Given the description of an element on the screen output the (x, y) to click on. 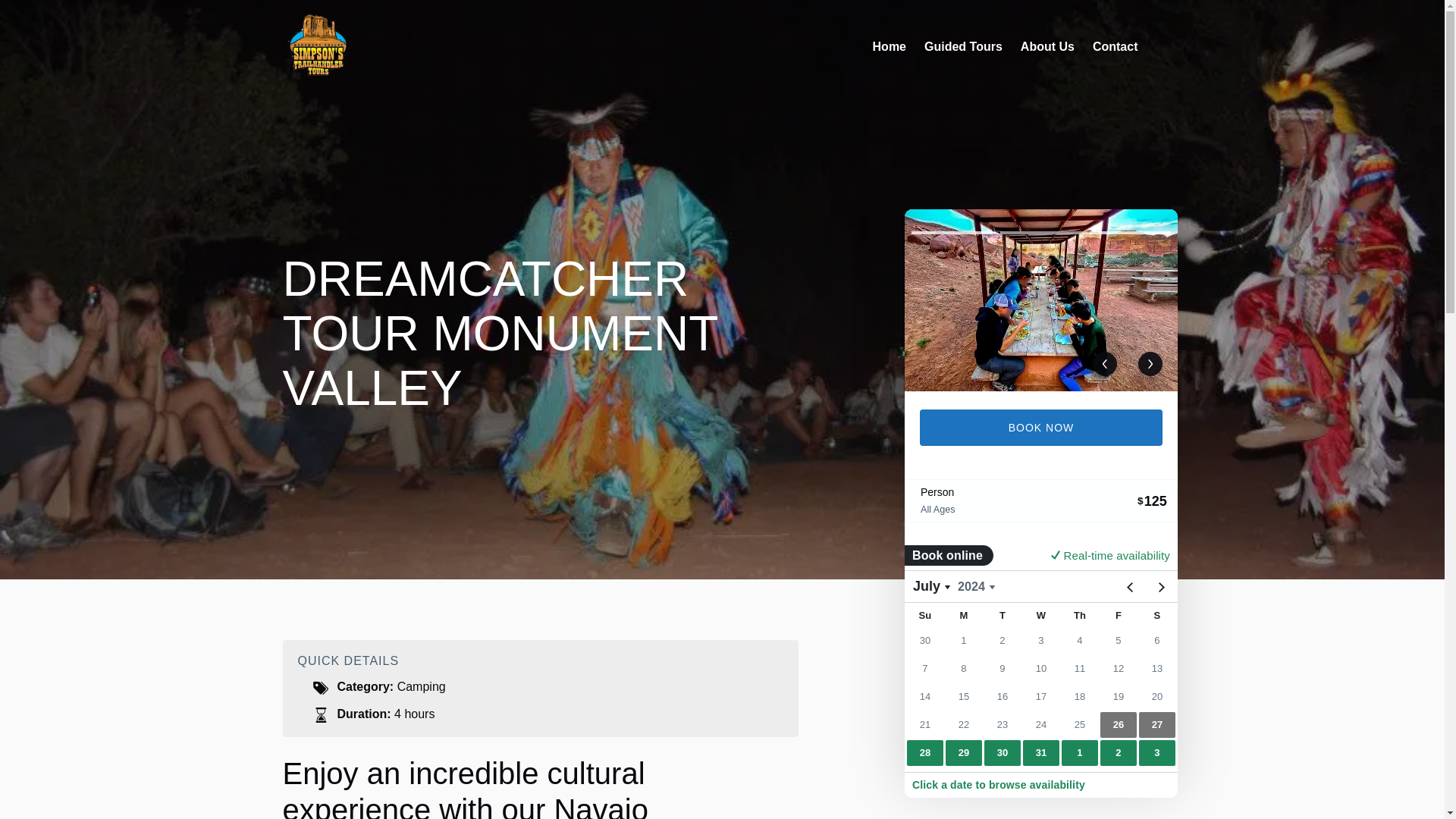
2 (1040, 232)
Skip to footer (42, 16)
Skip to content (47, 16)
About Us (1047, 46)
FareHarbor (1040, 668)
1 (951, 232)
Next (1149, 363)
Previous (1104, 363)
Skip to primary navigation (77, 16)
BOOK NOW (1039, 427)
Hour Glass (320, 714)
3 (1129, 232)
Tags (320, 687)
Contact (1115, 46)
Home (889, 46)
